Given the description of an element on the screen output the (x, y) to click on. 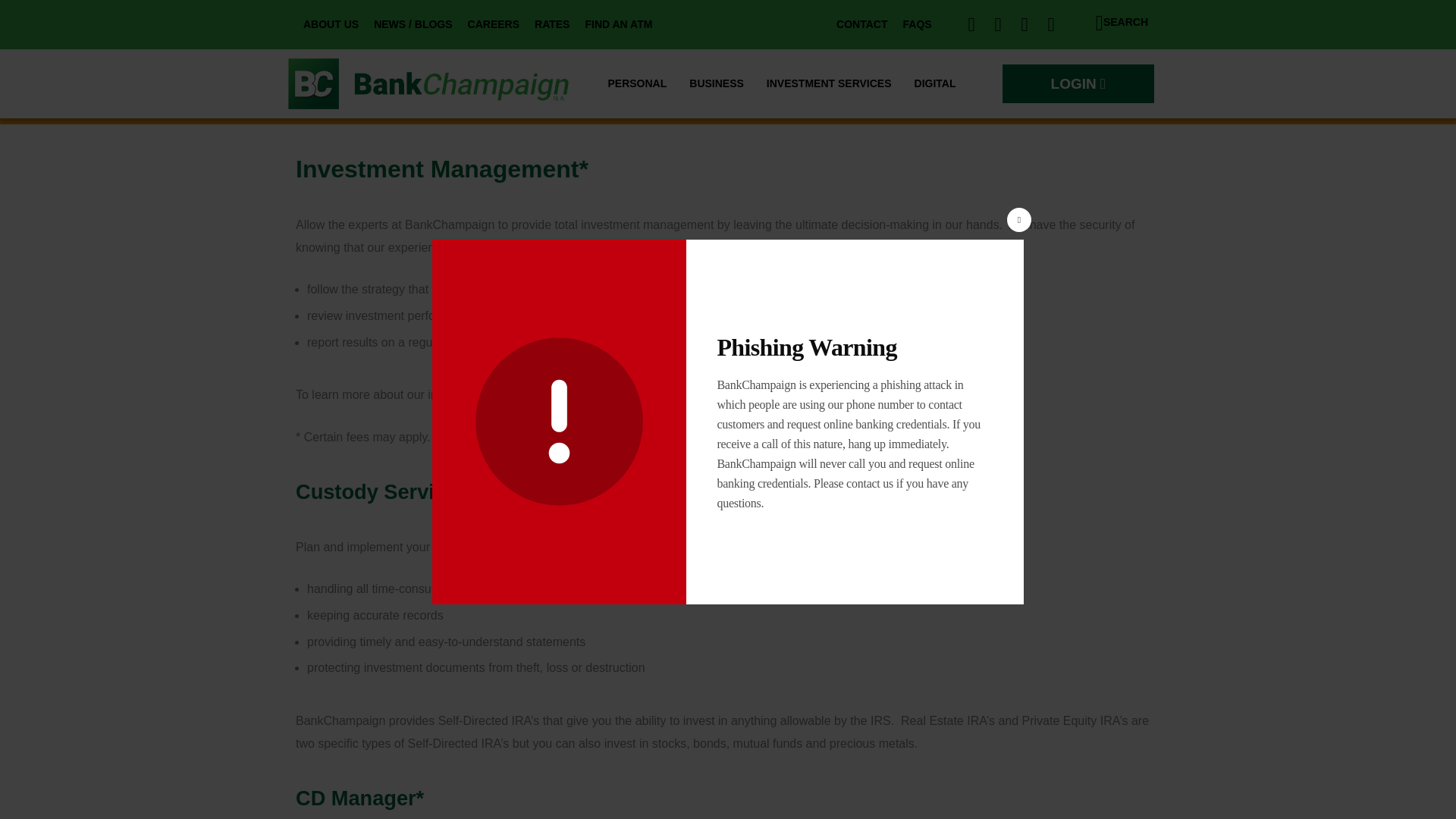
FIND AN ATM (617, 23)
RATES (551, 23)
PERSONAL (636, 83)
BUSINESS (716, 83)
ABOUT US (330, 23)
CAREERS (493, 23)
Facebook-f (971, 24)
Linkedin-in (1023, 24)
FAQS (917, 23)
X-twitter (997, 24)
